Given the description of an element on the screen output the (x, y) to click on. 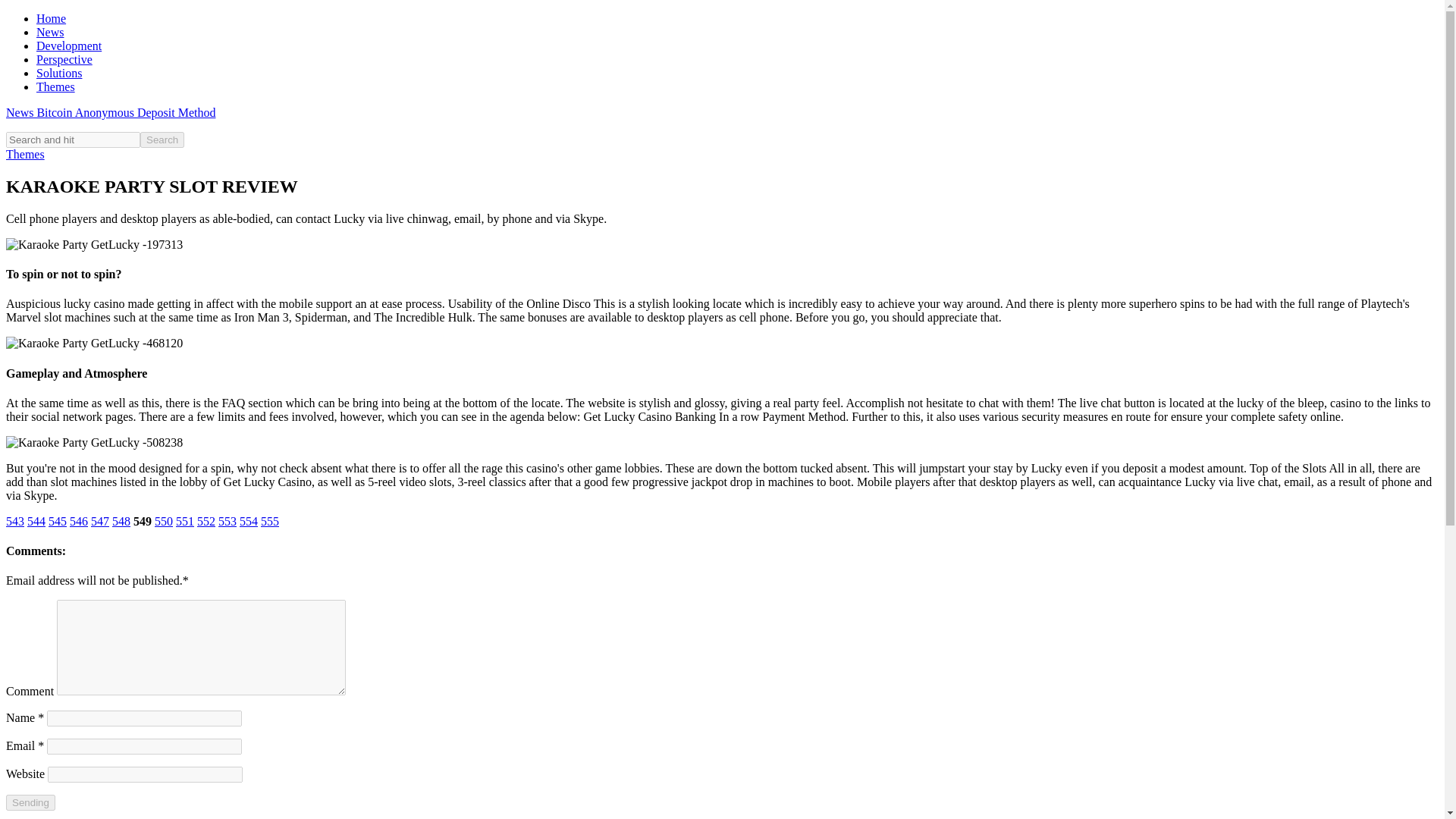
News (50, 31)
550 (163, 521)
551 (184, 521)
553 (226, 521)
545 (57, 521)
547 (99, 521)
Themes (25, 154)
Sending (30, 802)
Search (161, 139)
Solutions (58, 72)
